Given the description of an element on the screen output the (x, y) to click on. 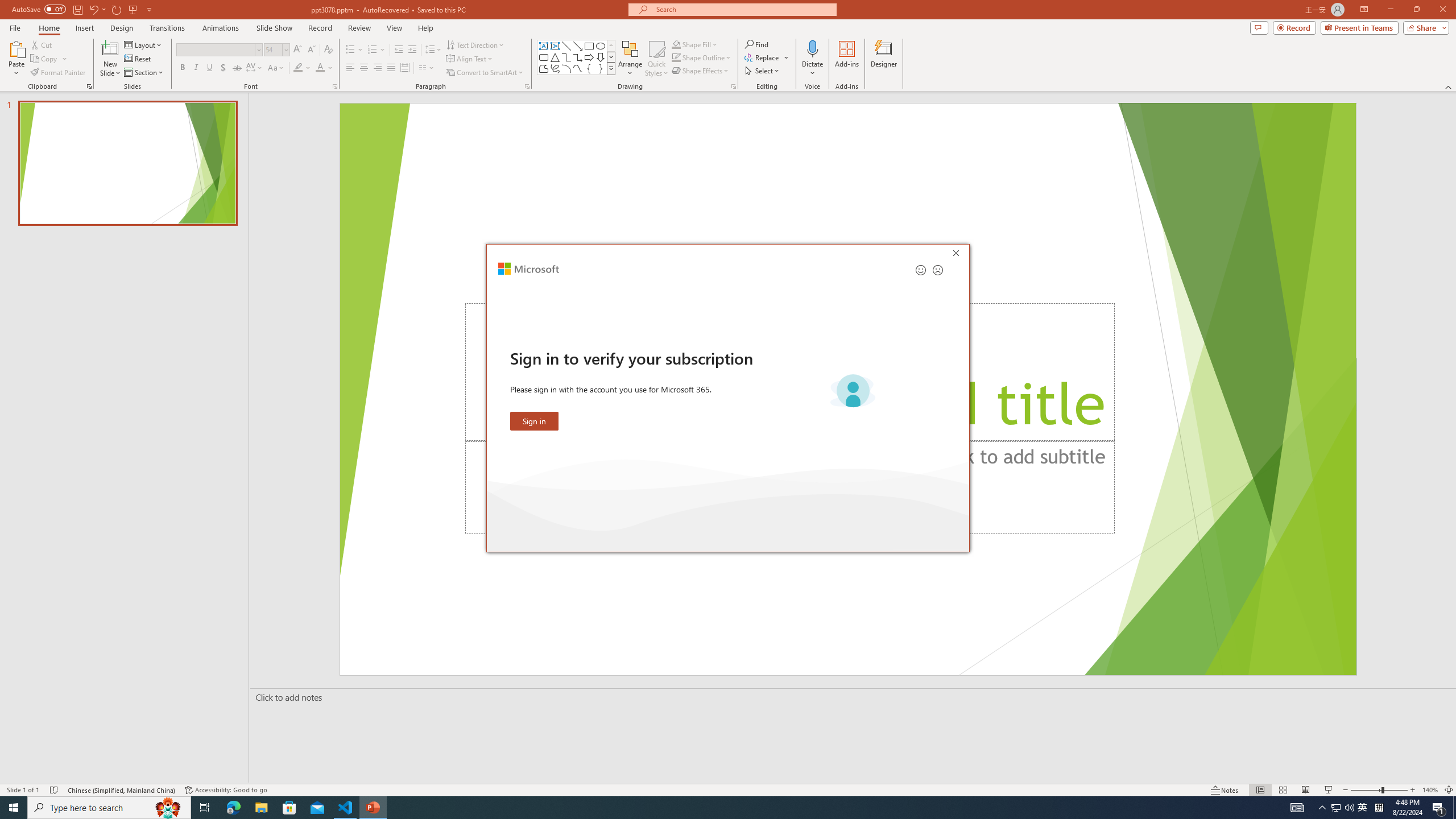
Send a smile for feedback (920, 269)
Shape Outline Green, Accent 1 (675, 56)
